Given the description of an element on the screen output the (x, y) to click on. 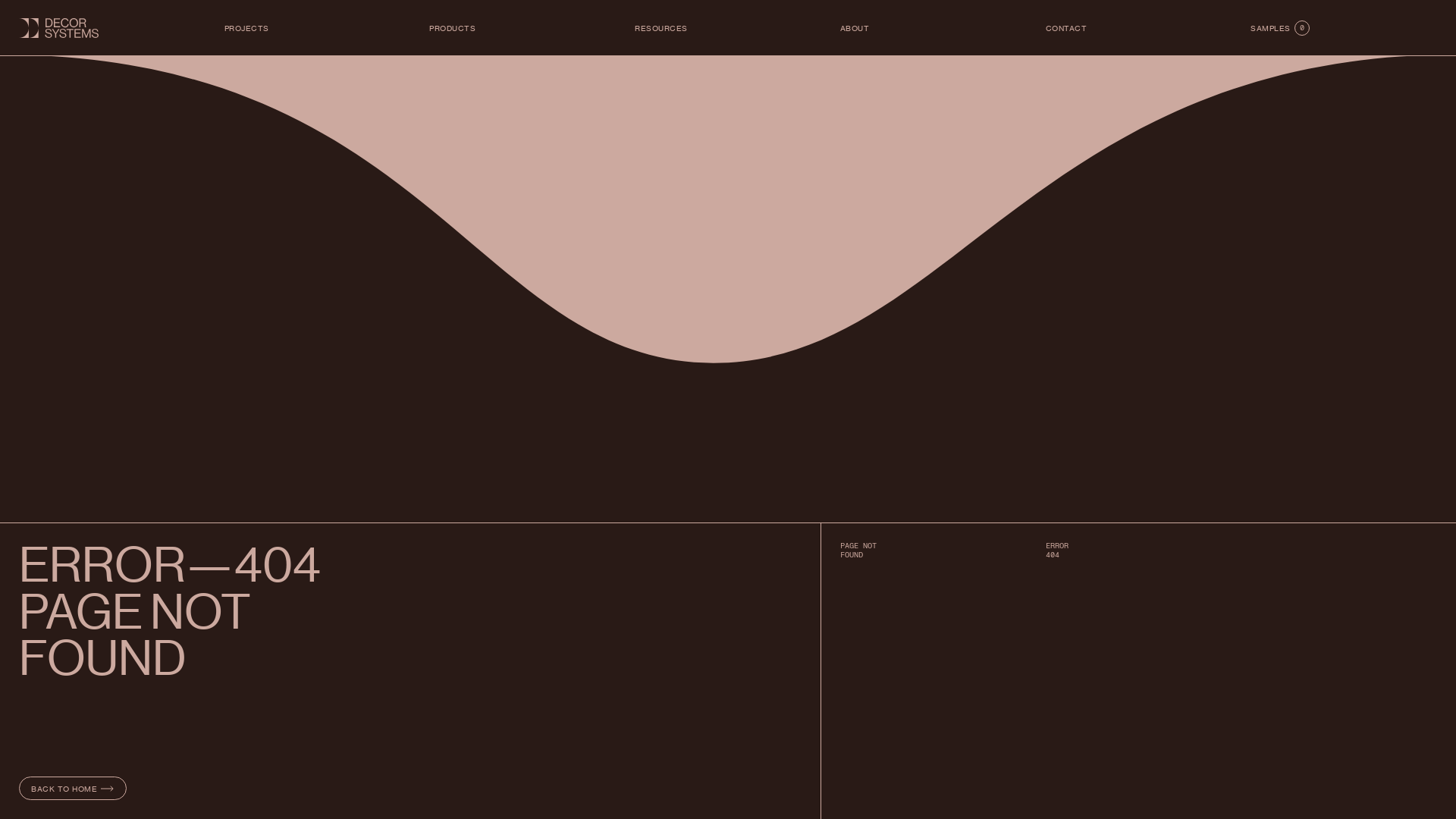
BACK TO HOME Element type: text (72, 788)
RESOURCES Element type: text (660, 27)
CONTACT Element type: text (1066, 27)
ABOUT Element type: text (854, 27)
PRODUCTS Element type: text (452, 27)
SAMPLES
0 Element type: text (1279, 27)
PROJECTS Element type: text (246, 27)
